Given the description of an element on the screen output the (x, y) to click on. 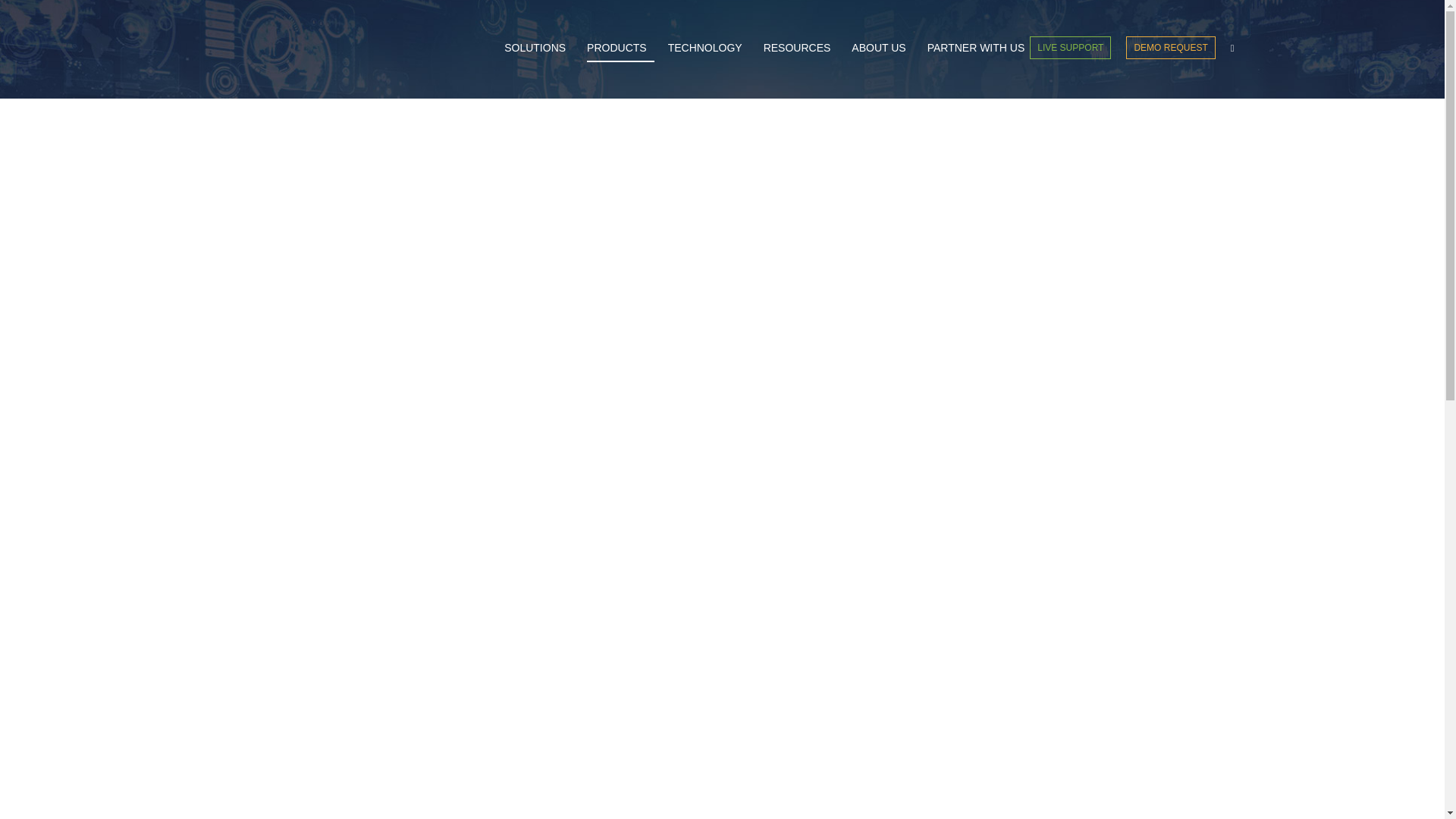
PARTNER WITH US (976, 47)
DEMO REQUEST (1169, 47)
TECHNOLOGY (708, 47)
RESOURCES (800, 47)
PRODUCTS (620, 47)
ABOUT US (882, 47)
LIVE SUPPORT (1069, 47)
SOLUTIONS (538, 47)
Go! (22, 15)
